Given the description of an element on the screen output the (x, y) to click on. 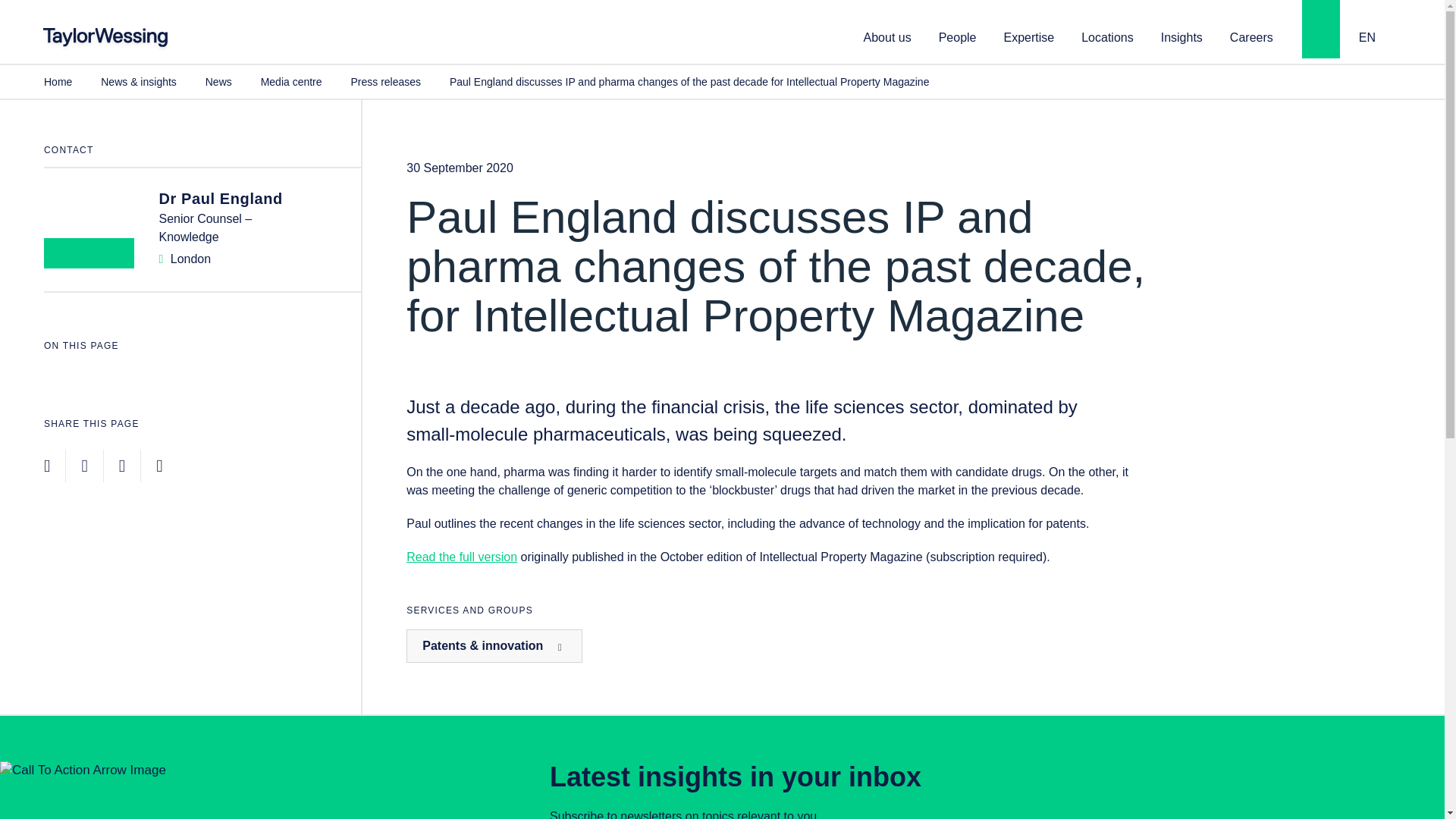
About us (887, 35)
find out more (461, 556)
People (957, 35)
Expertise (1029, 35)
Patents and innovation (494, 645)
